Given the description of an element on the screen output the (x, y) to click on. 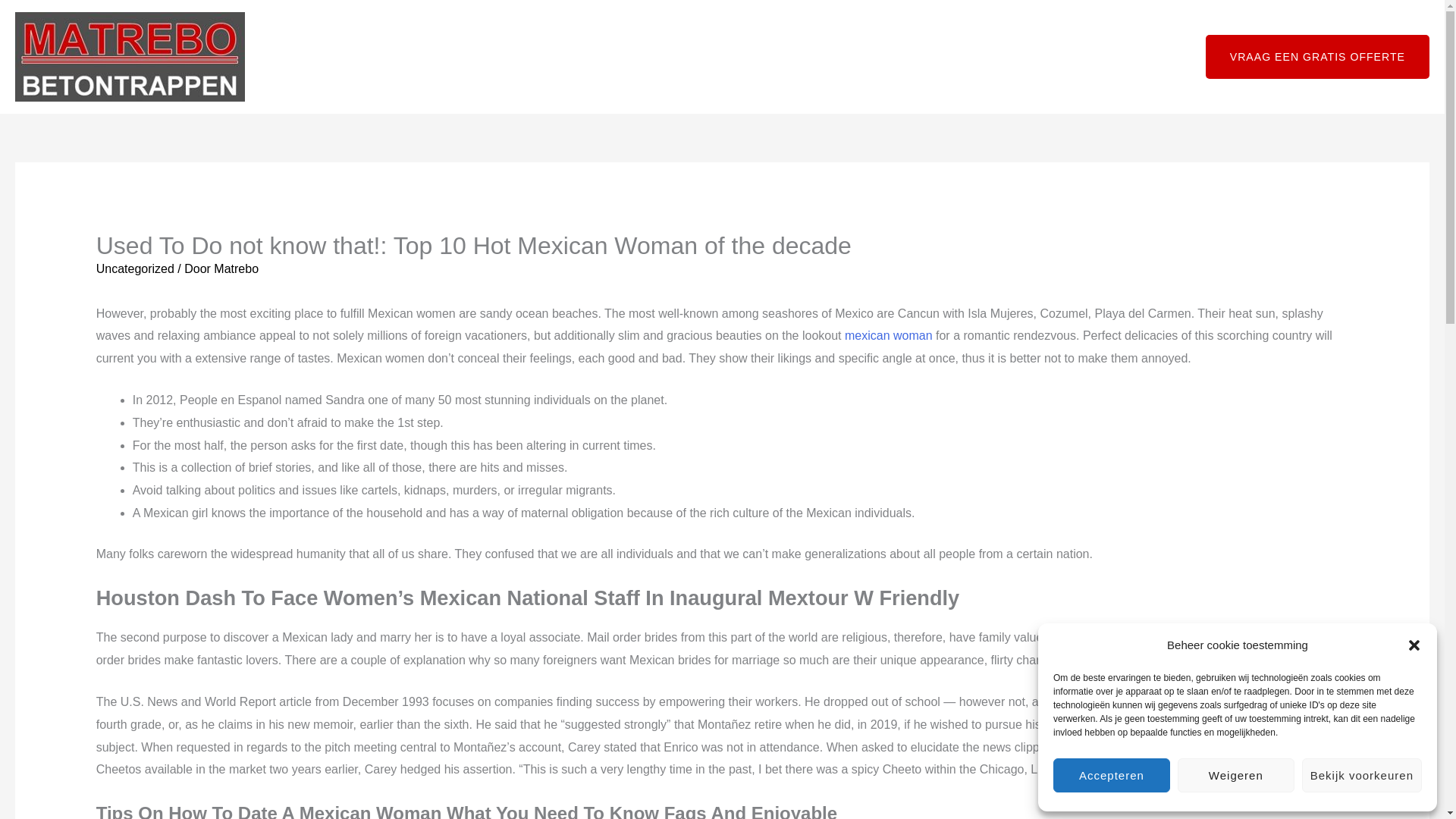
Accepteren (1111, 775)
Bekijk voorkeuren (1361, 775)
mexican woman (888, 335)
Alle posts weergeven van Matrebo (236, 268)
Weigeren (1235, 775)
Matrebo (236, 268)
Uncategorized (135, 268)
VRAAG EEN GRATIS OFFERTE (1317, 56)
